Given the description of an element on the screen output the (x, y) to click on. 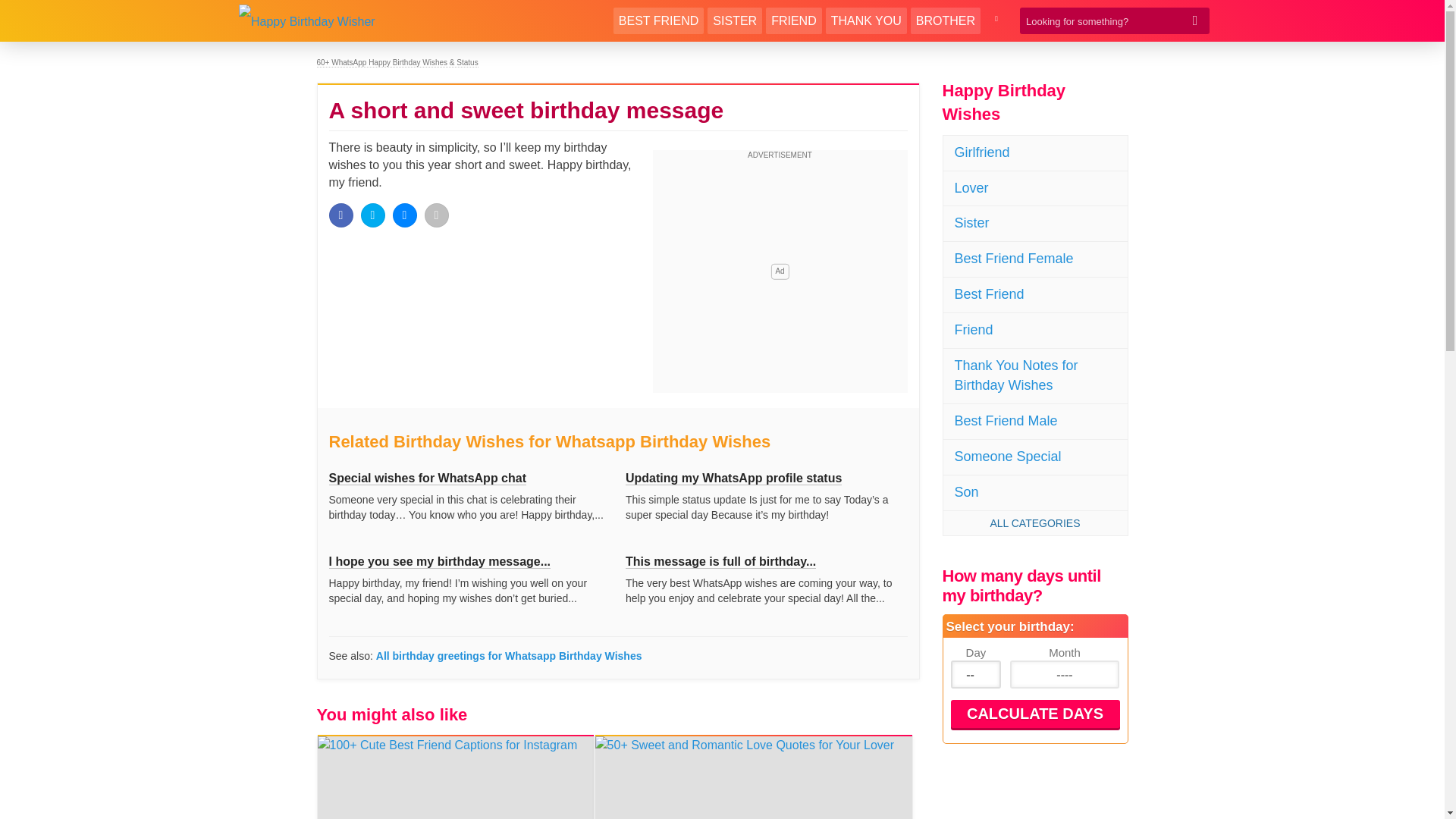
Girlfriend (1034, 152)
BEST FRIEND (658, 20)
Updating my WhatsApp profile status (733, 478)
I hope you see my birthday message... (440, 561)
All birthday greetings for Whatsapp Birthday Wishes (508, 655)
FRIEND (793, 20)
THANK YOU (866, 20)
This message is full of birthday... (720, 561)
Calculate Days (1034, 714)
Special wishes for WhatsApp chat (428, 478)
BROTHER (945, 20)
Tweet (373, 215)
SISTER (734, 20)
Email (436, 215)
